Given the description of an element on the screen output the (x, y) to click on. 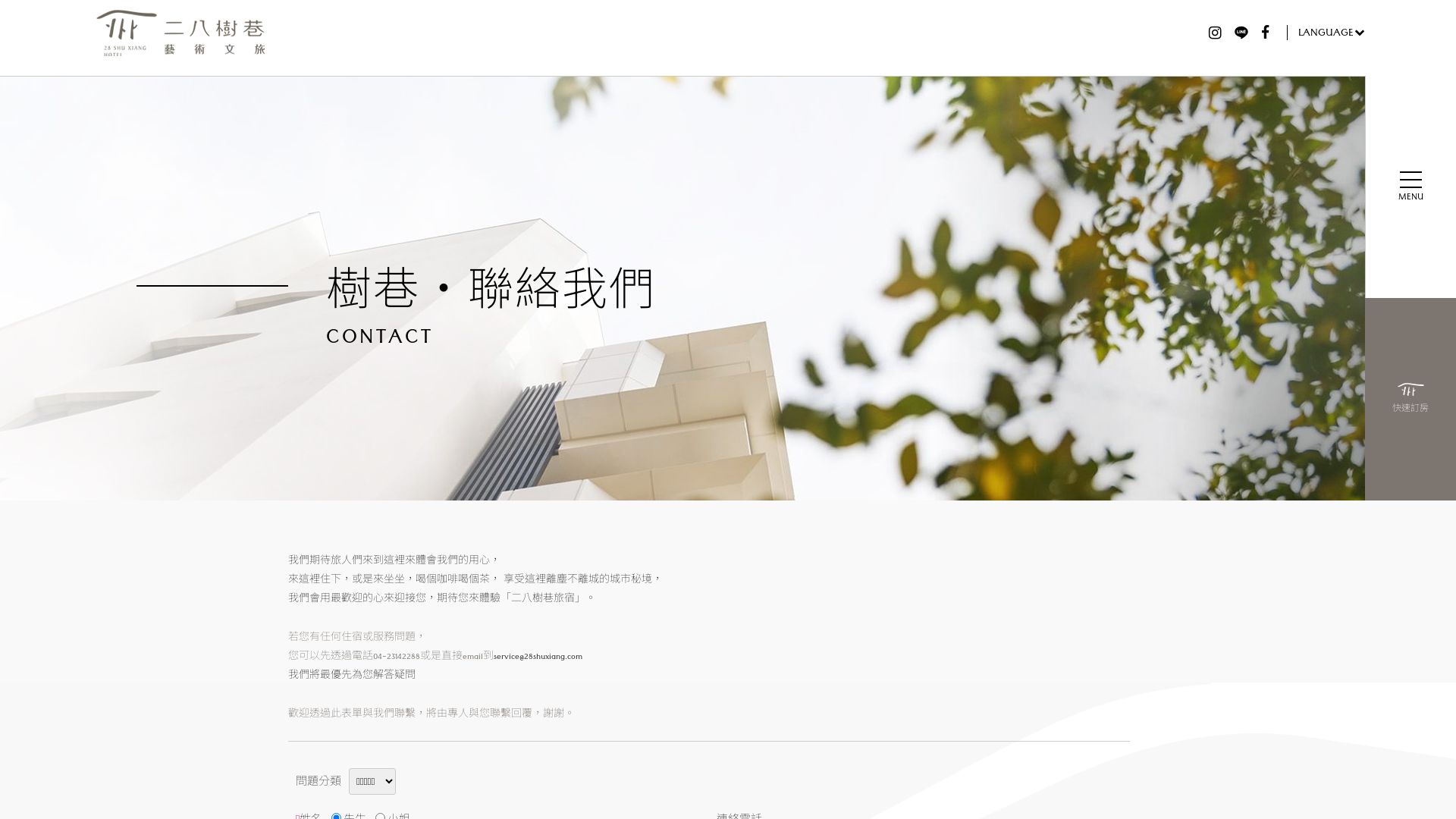
LANGUAGE Element type: text (1326, 31)
